Given the description of an element on the screen output the (x, y) to click on. 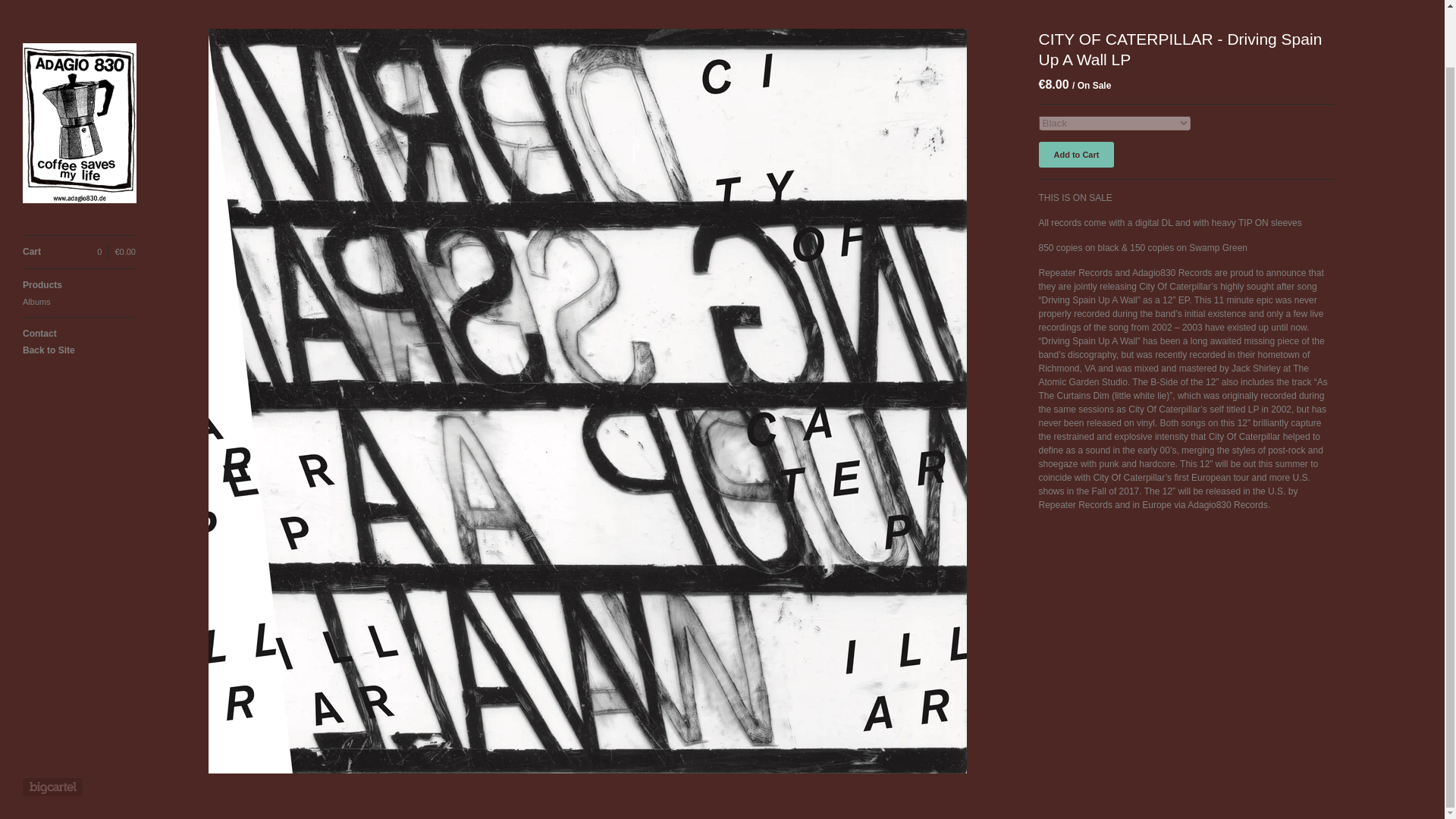
Add to Cart (1077, 154)
Powered by Big Cartel (52, 724)
Products (79, 222)
Albums (79, 239)
Back to Site (79, 288)
Contact (79, 271)
